Given the description of an element on the screen output the (x, y) to click on. 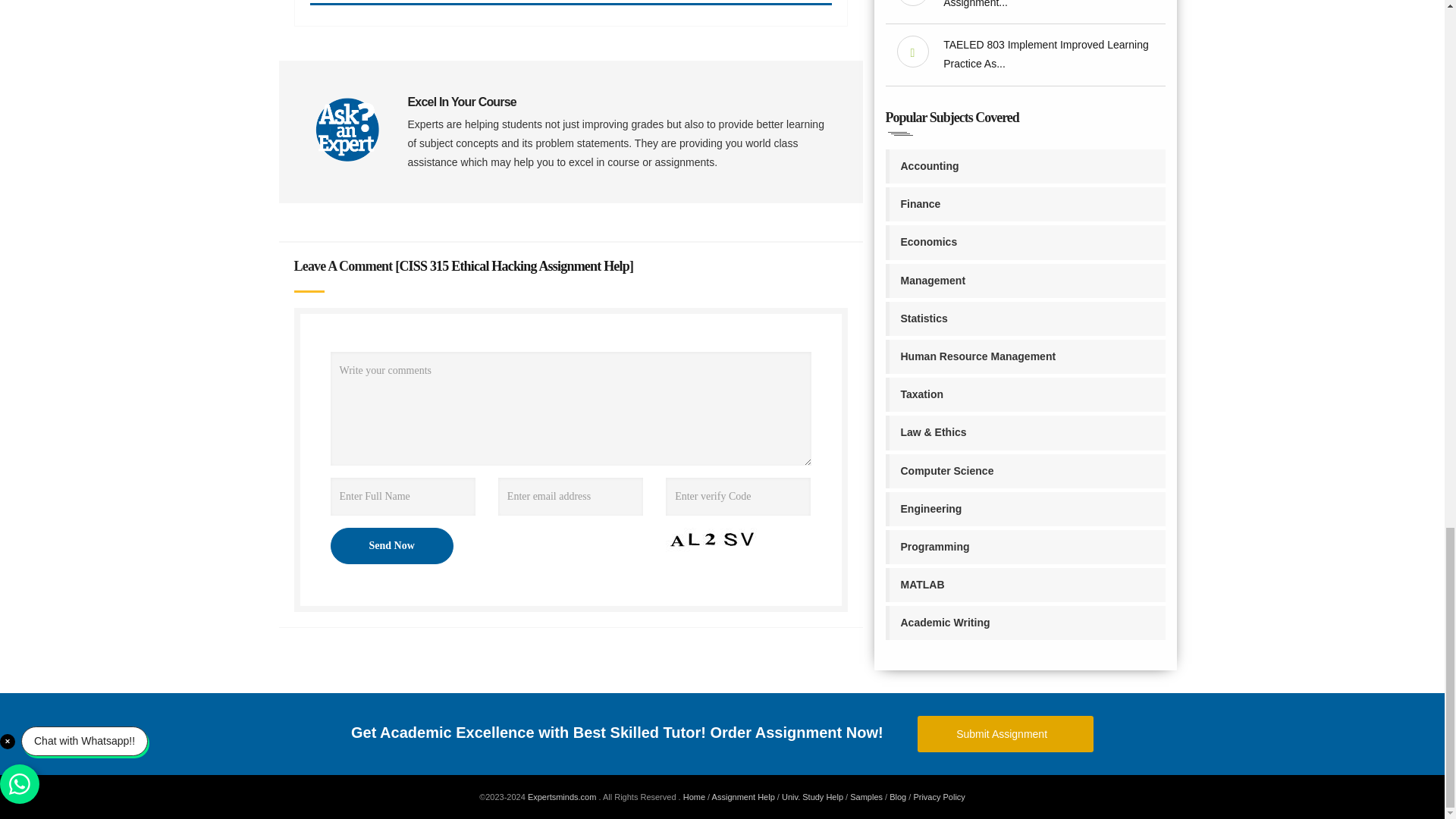
taxation assignment help (1025, 394)
Send Now (391, 545)
assignment help (742, 796)
Send Now (391, 545)
Economics assignment help (1025, 242)
Engineering assignment help (1025, 509)
MATLAB assignment help (1025, 584)
Programming assignment help (1025, 546)
Finance assignment help (1025, 204)
3104AFE Strategic Management Accounting Assignment... (1048, 4)
